Given the description of an element on the screen output the (x, y) to click on. 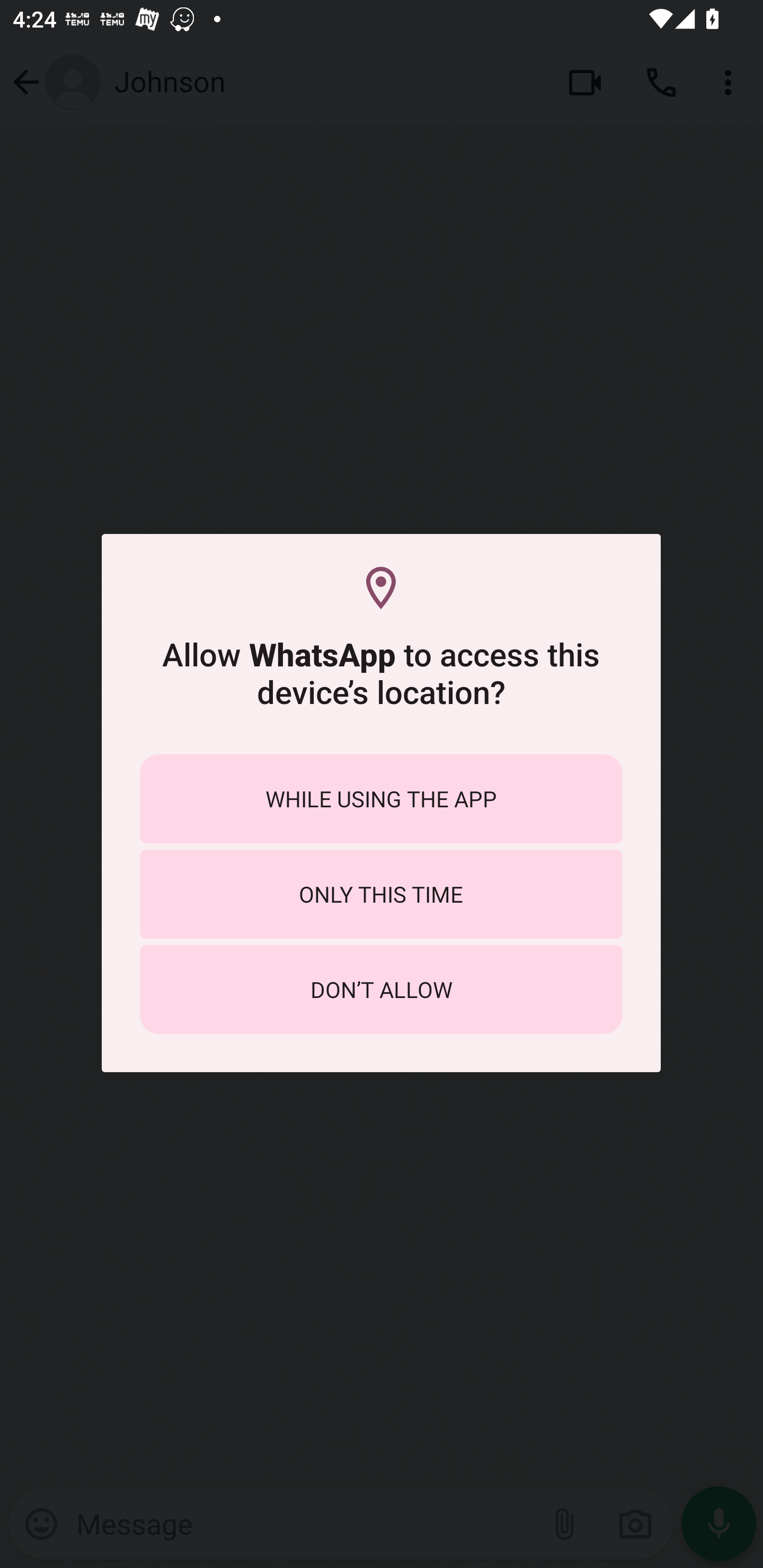
WHILE USING THE APP (380, 798)
ONLY THIS TIME (380, 894)
DON’T ALLOW (380, 989)
